Given the description of an element on the screen output the (x, y) to click on. 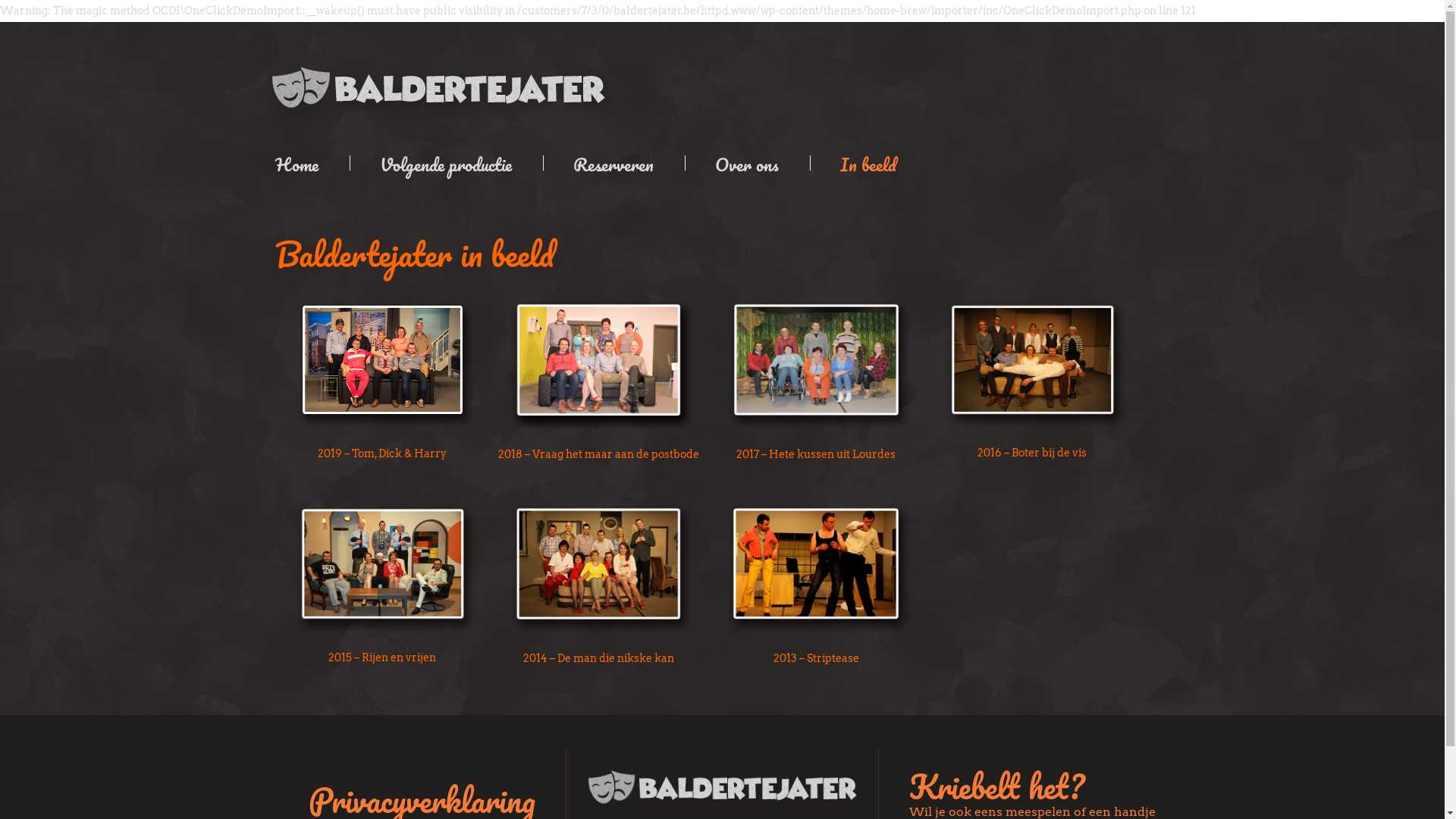
Volgende productie Element type: text (446, 162)
Baldertejater Element type: hover (437, 87)
Home Element type: text (306, 162)
Reserveren Element type: text (615, 162)
In beeld Element type: text (870, 162)
Over ons Element type: text (748, 162)
